Given the description of an element on the screen output the (x, y) to click on. 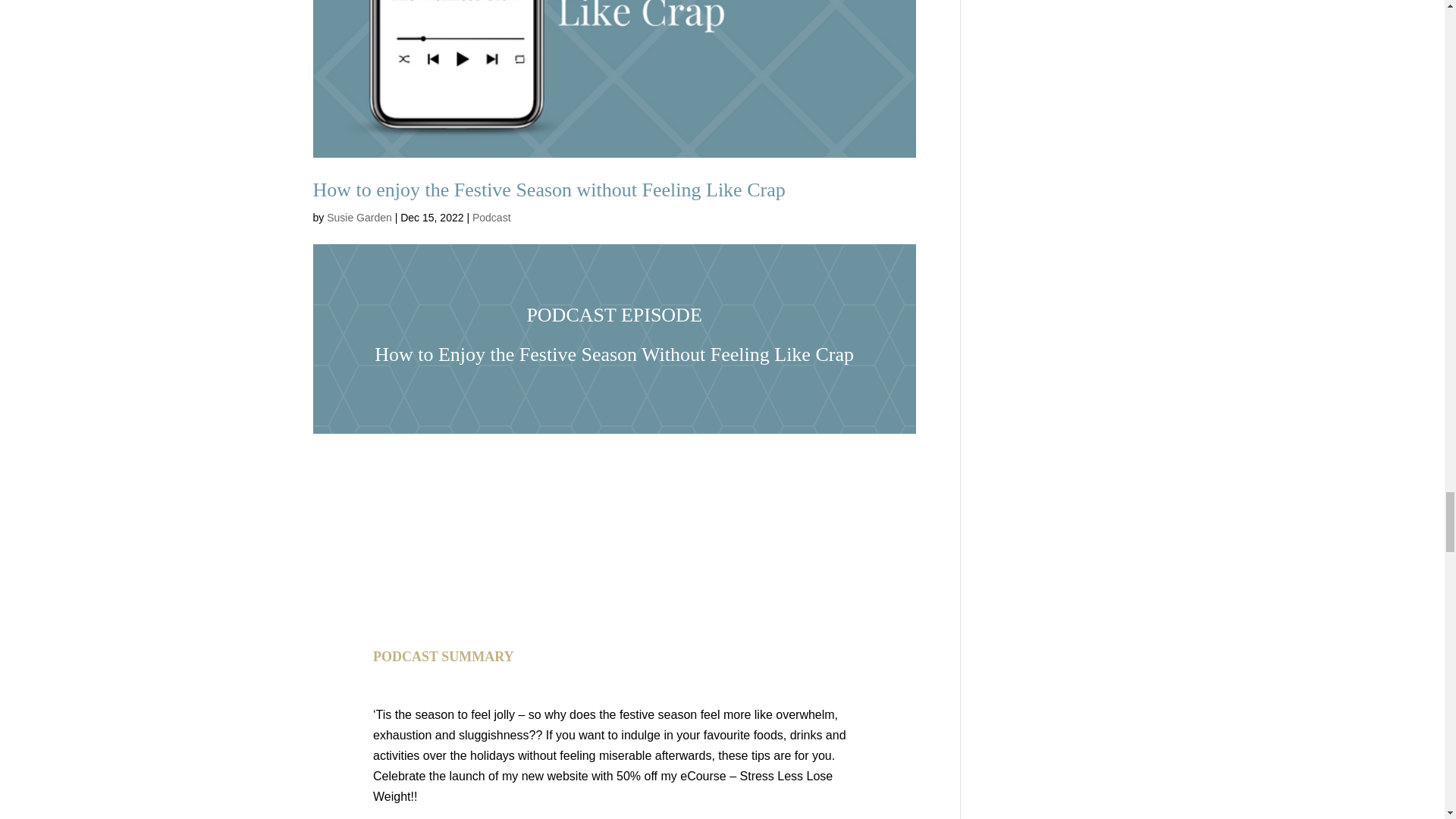
Posts by Susie Garden (358, 217)
